Given the description of an element on the screen output the (x, y) to click on. 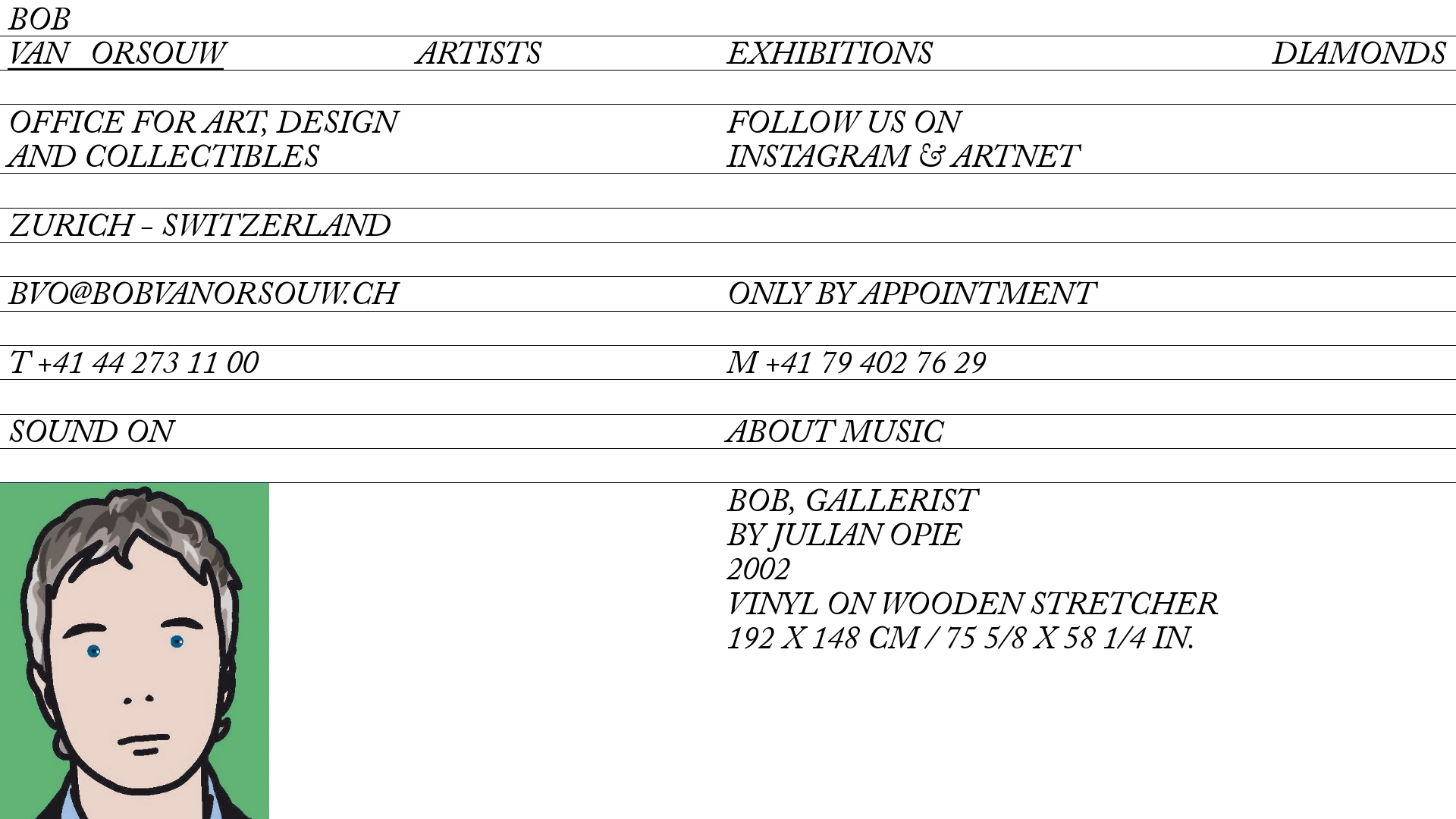
BOB
VAN
ORSOUW Element type: text (115, 39)
